Given the description of an element on the screen output the (x, y) to click on. 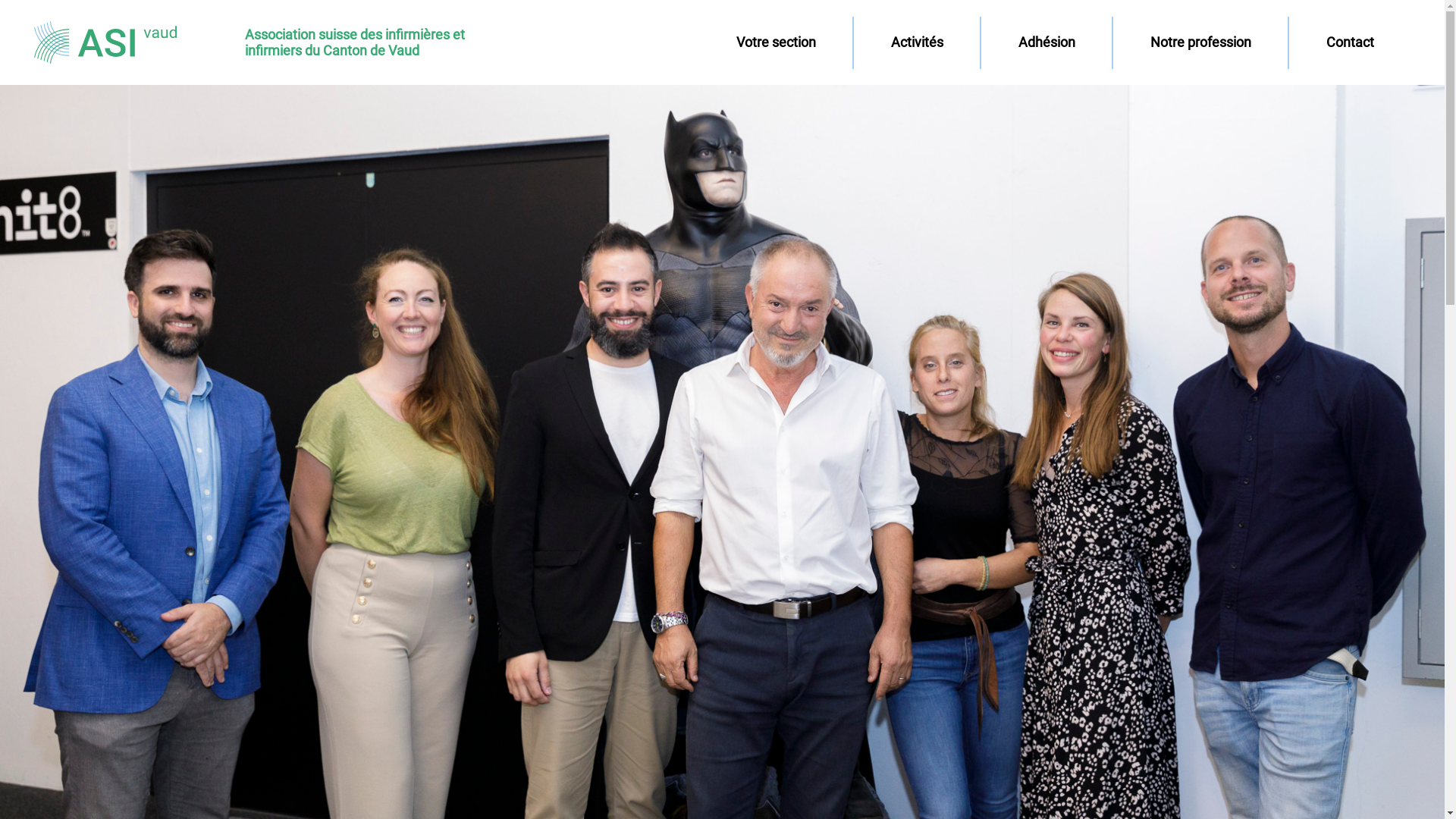
Votre section Element type: text (775, 42)
Notre profession Element type: text (1200, 42)
Contact Element type: text (1349, 42)
